Given the description of an element on the screen output the (x, y) to click on. 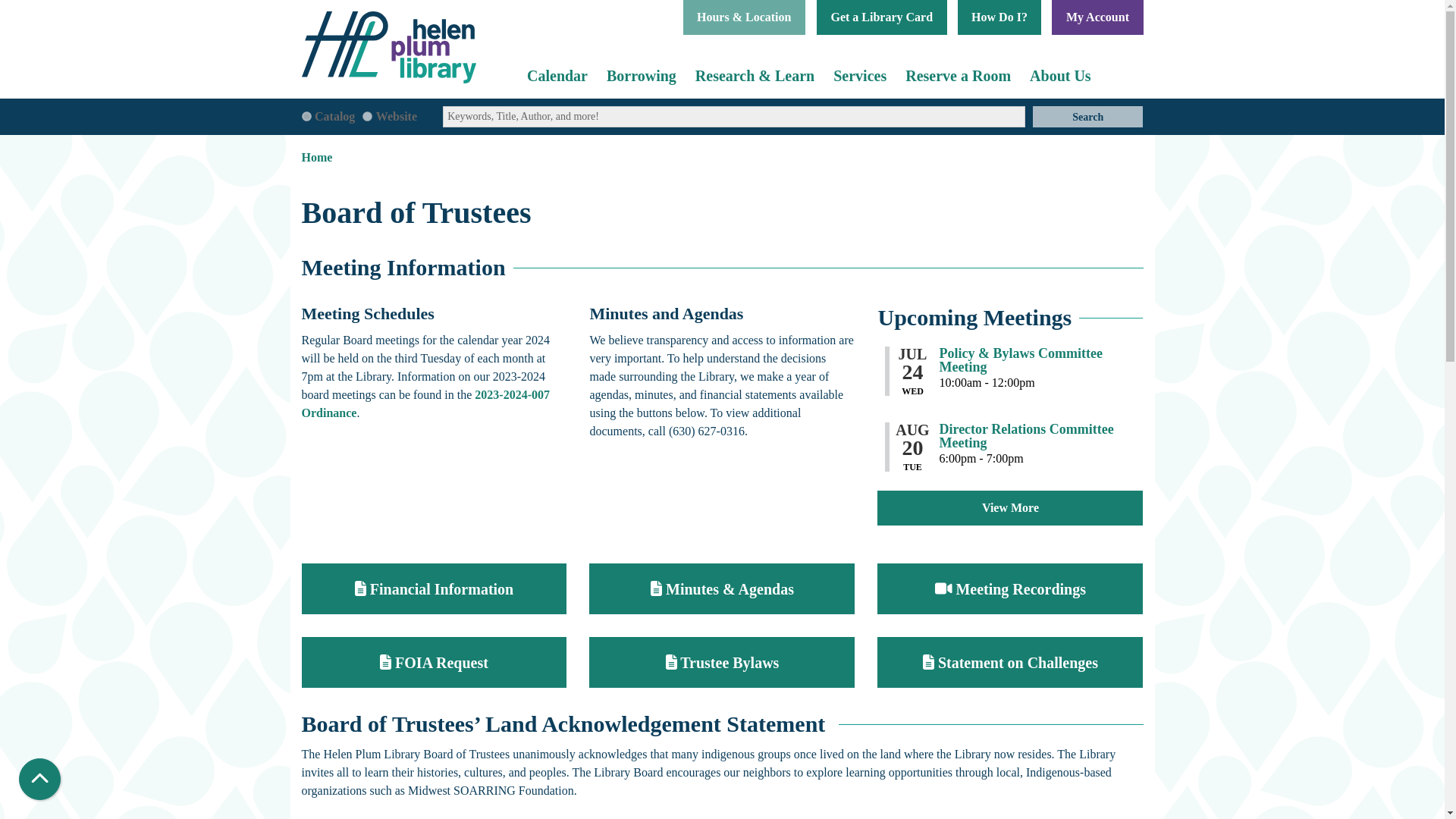
on (367, 115)
How Do I? (1000, 17)
My Account (1096, 17)
Home (398, 47)
on (306, 115)
Get a Library Card (881, 17)
Back To Top (39, 779)
